Given the description of an element on the screen output the (x, y) to click on. 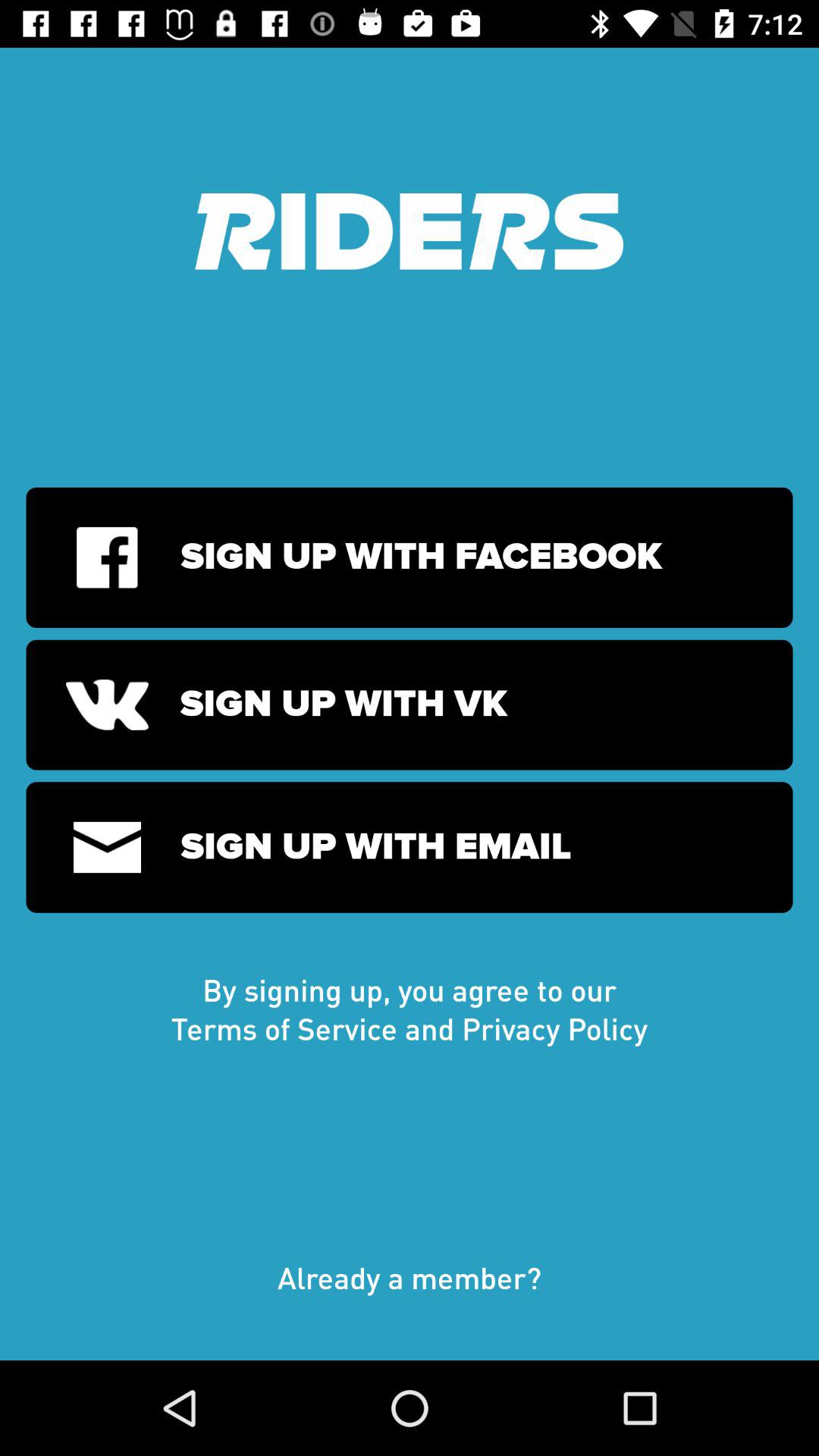
press the icon above already a member? (409, 1008)
